Given the description of an element on the screen output the (x, y) to click on. 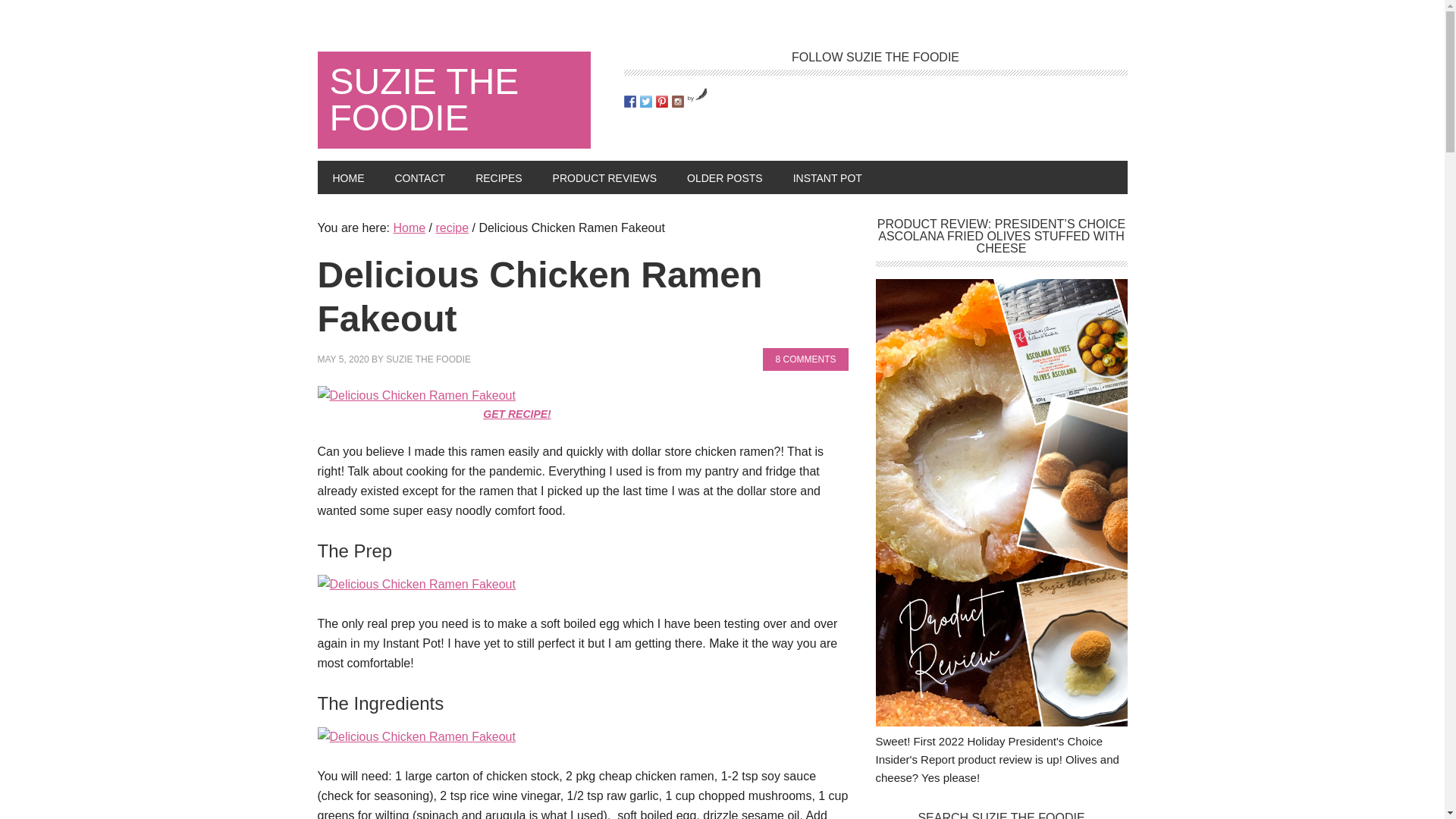
RECIPES (498, 177)
SUZIE THE FOODIE (453, 99)
8 COMMENTS (804, 359)
WordPress Social Media Feather (697, 98)
Follow me on Facebook (628, 101)
PRODUCT REVIEWS (604, 177)
SUZIE THE FOODIE (427, 358)
HOME (347, 177)
by (697, 98)
GET RECIPE! (516, 413)
OLDER POSTS (724, 177)
Delicious Chicken Ramen Fakeout (416, 395)
Home (409, 227)
Delicious Chicken Ramen Fakeout (416, 736)
Delicious Chicken Ramen Fakeout (416, 584)
